Given the description of an element on the screen output the (x, y) to click on. 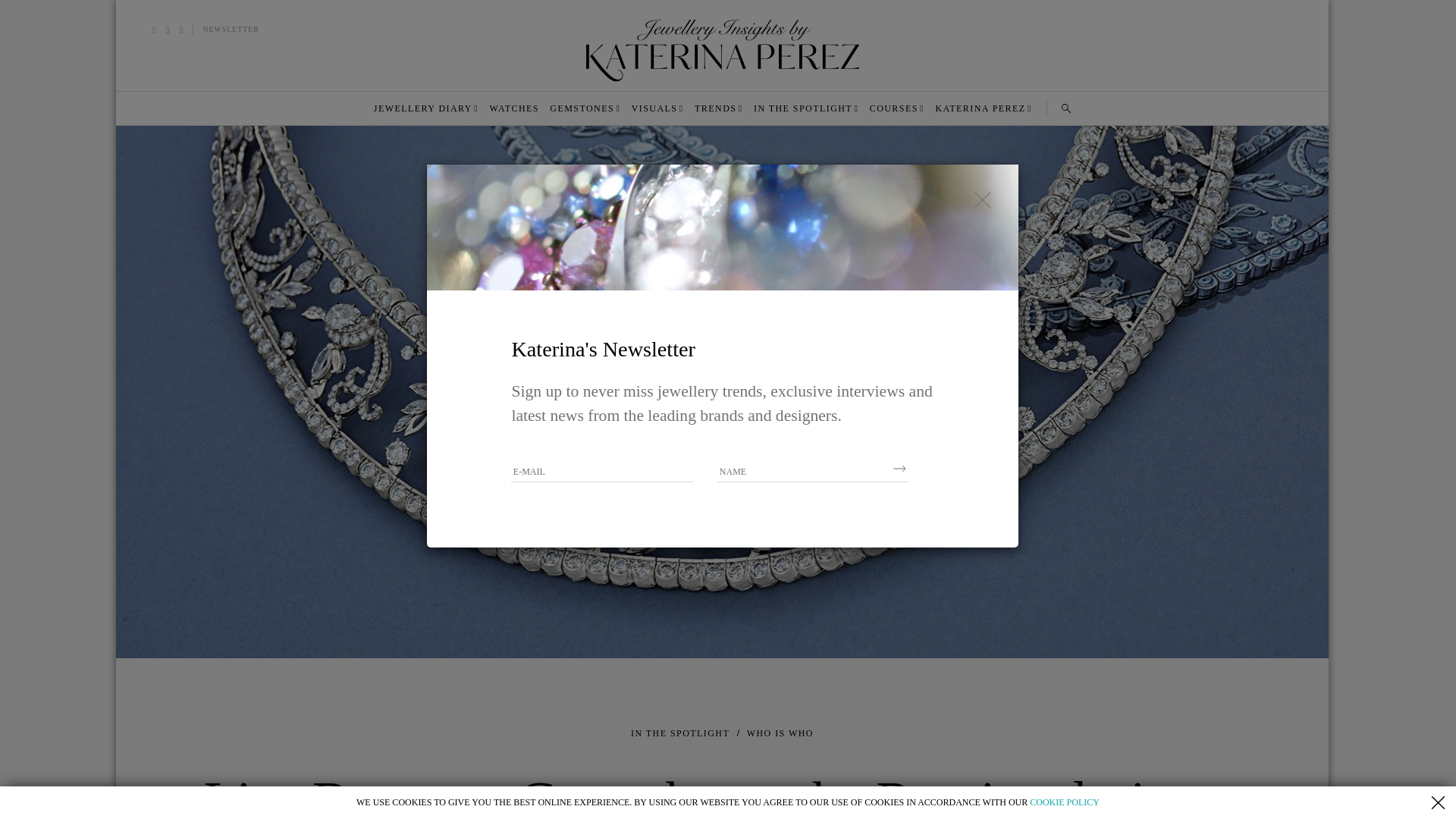
SEARCH (1065, 108)
kp-logo (722, 50)
